Given the description of an element on the screen output the (x, y) to click on. 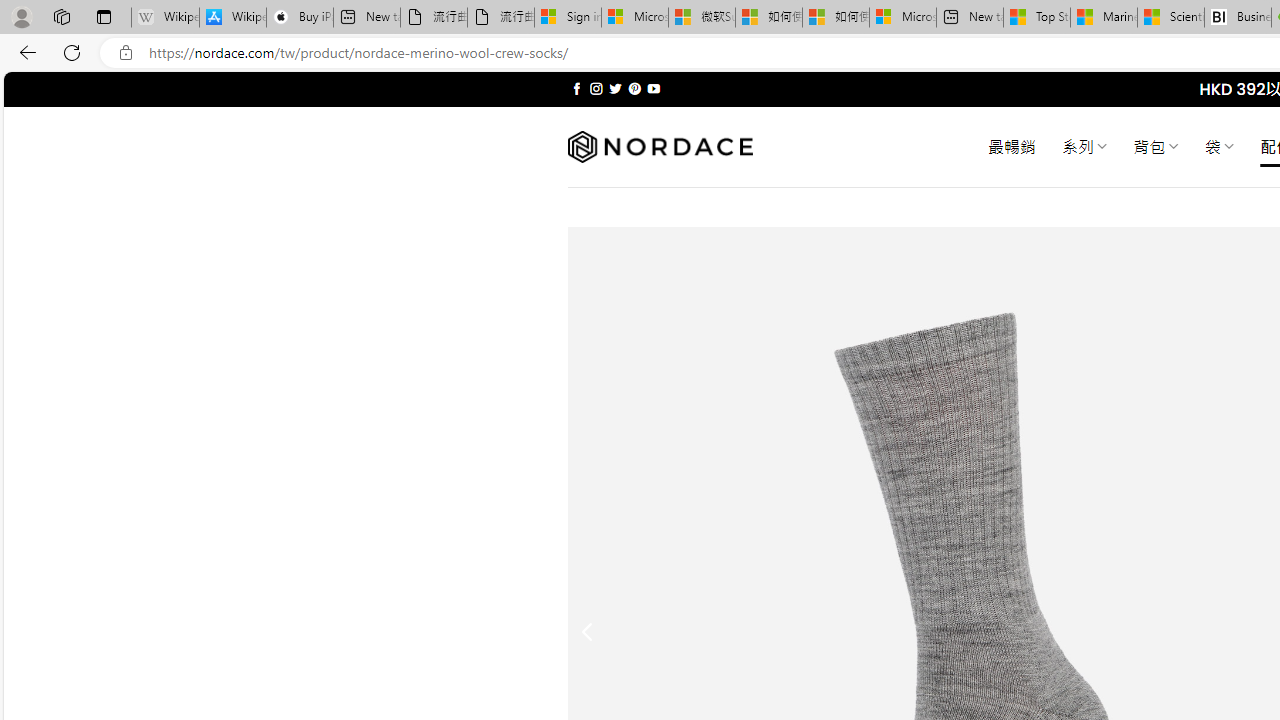
Follow on Instagram (596, 88)
Follow on YouTube (653, 88)
Follow on Twitter (615, 88)
Follow on Facebook (576, 88)
